Given the description of an element on the screen output the (x, y) to click on. 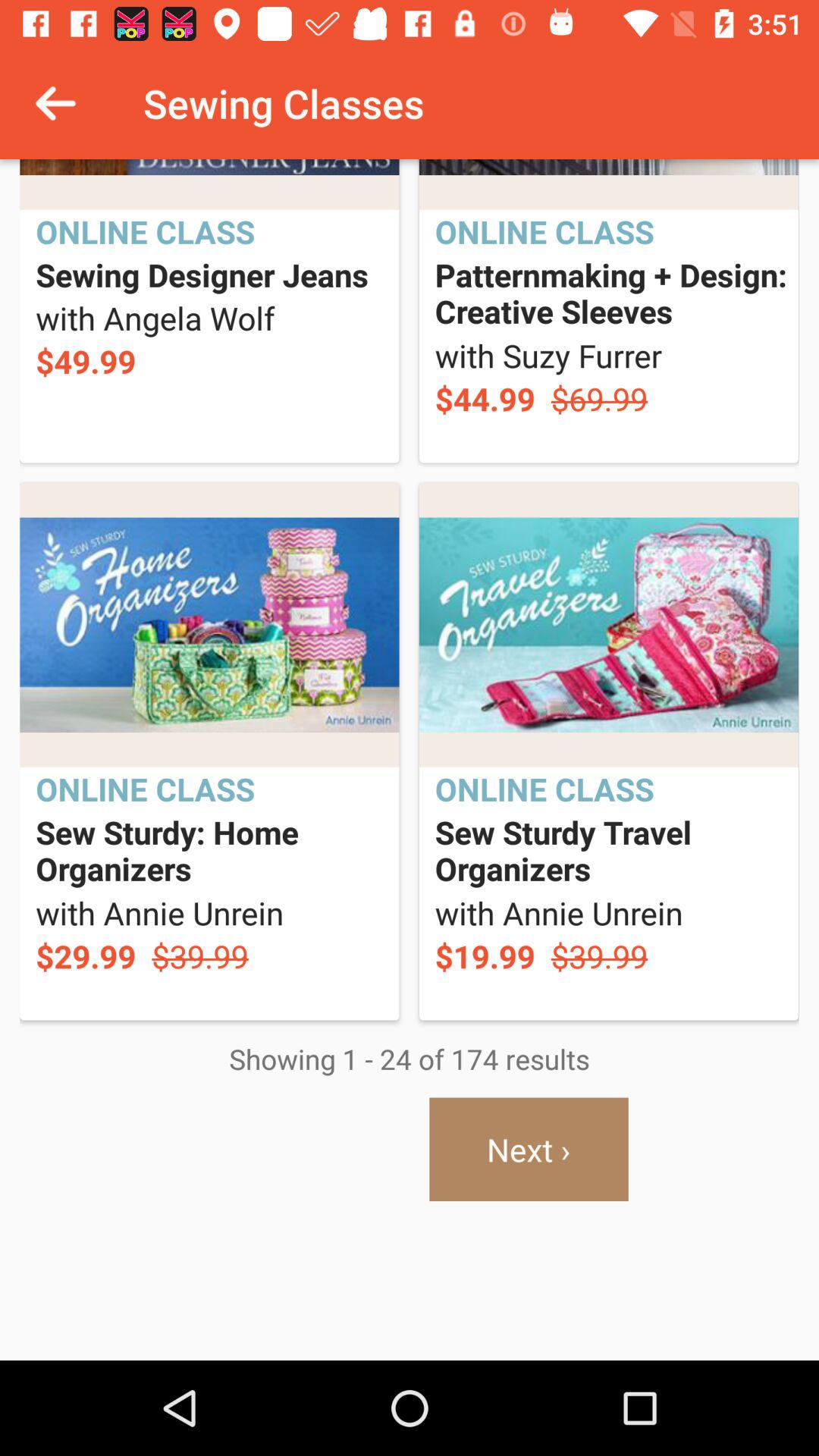
launch the icon to the left of the sewing classes item (55, 103)
